Given the description of an element on the screen output the (x, y) to click on. 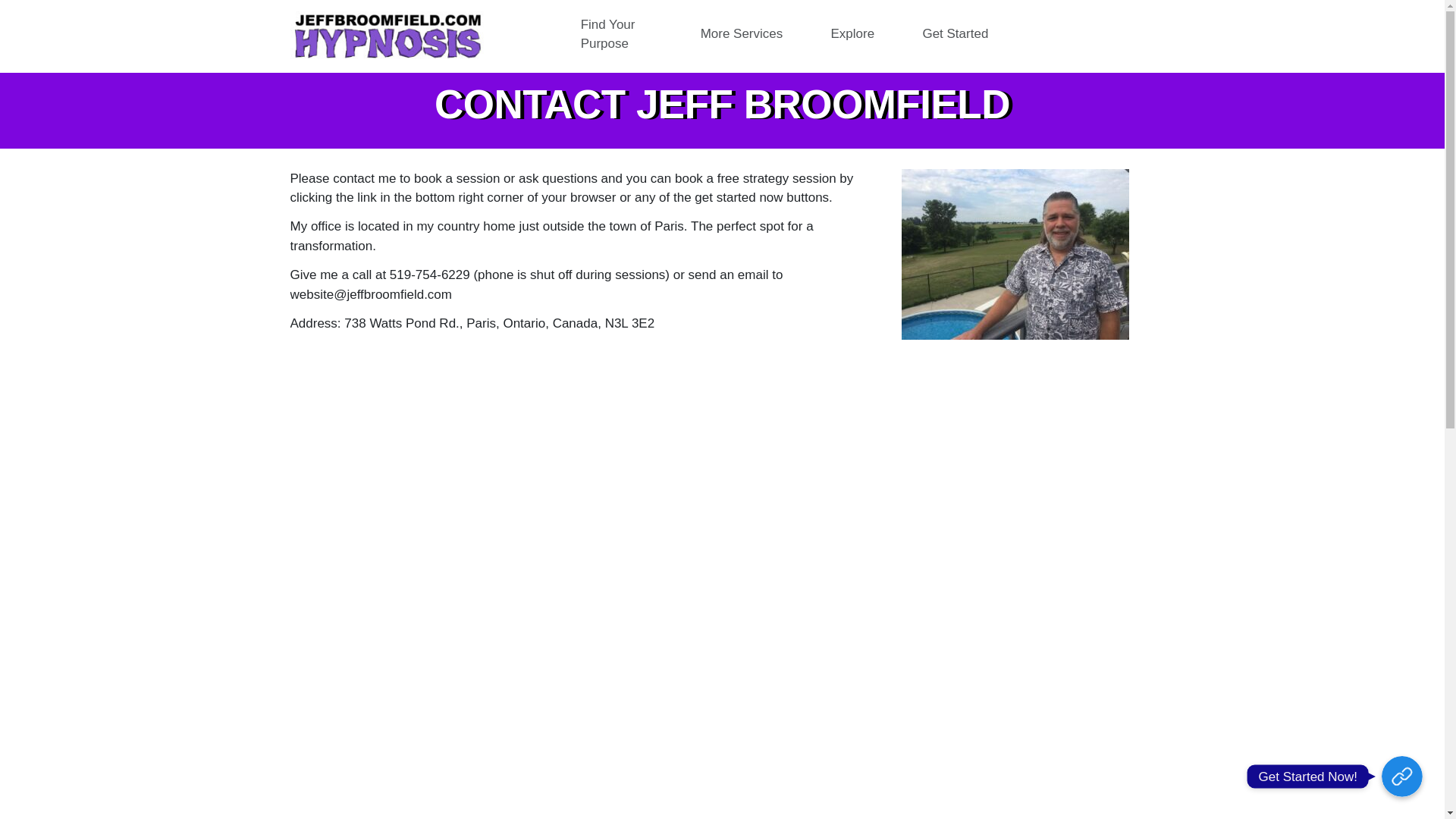
jeffbroomfielddotcomhypnosis logo whitebkgd (387, 36)
Find Your Purpose (624, 33)
Get Started (954, 33)
More Services (749, 33)
expositor photo (1015, 253)
Explore (861, 33)
